Given the description of an element on the screen output the (x, y) to click on. 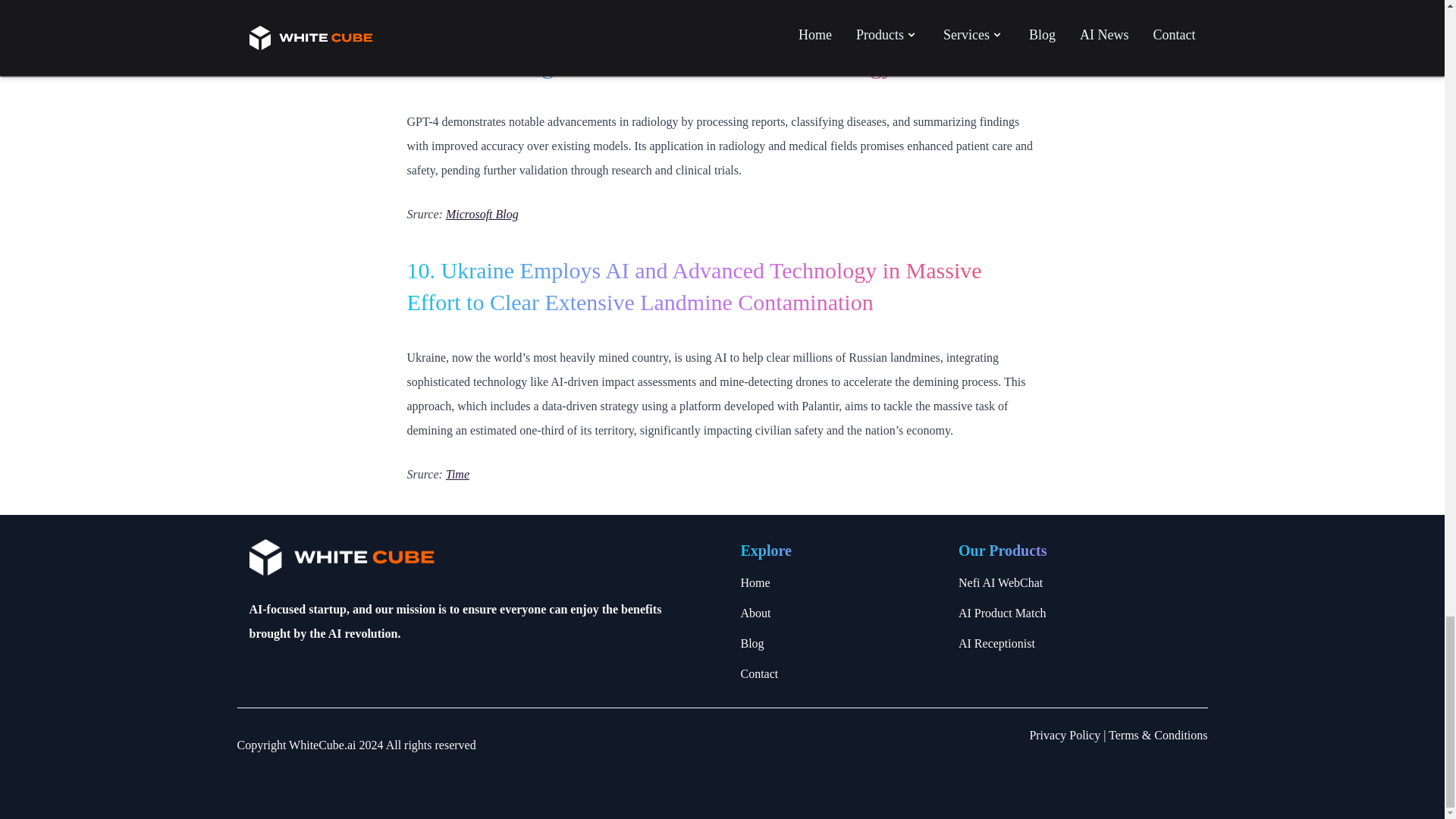
AP News (468, 10)
AI Receptionist (1076, 643)
WhiteCube.AI - AI For Business (485, 556)
Time (456, 473)
AI Receptionist (1076, 643)
About (839, 613)
Microsoft Blog (481, 214)
AI Product Match (1076, 613)
Our Tech and AI Blog (839, 643)
